Given the description of an element on the screen output the (x, y) to click on. 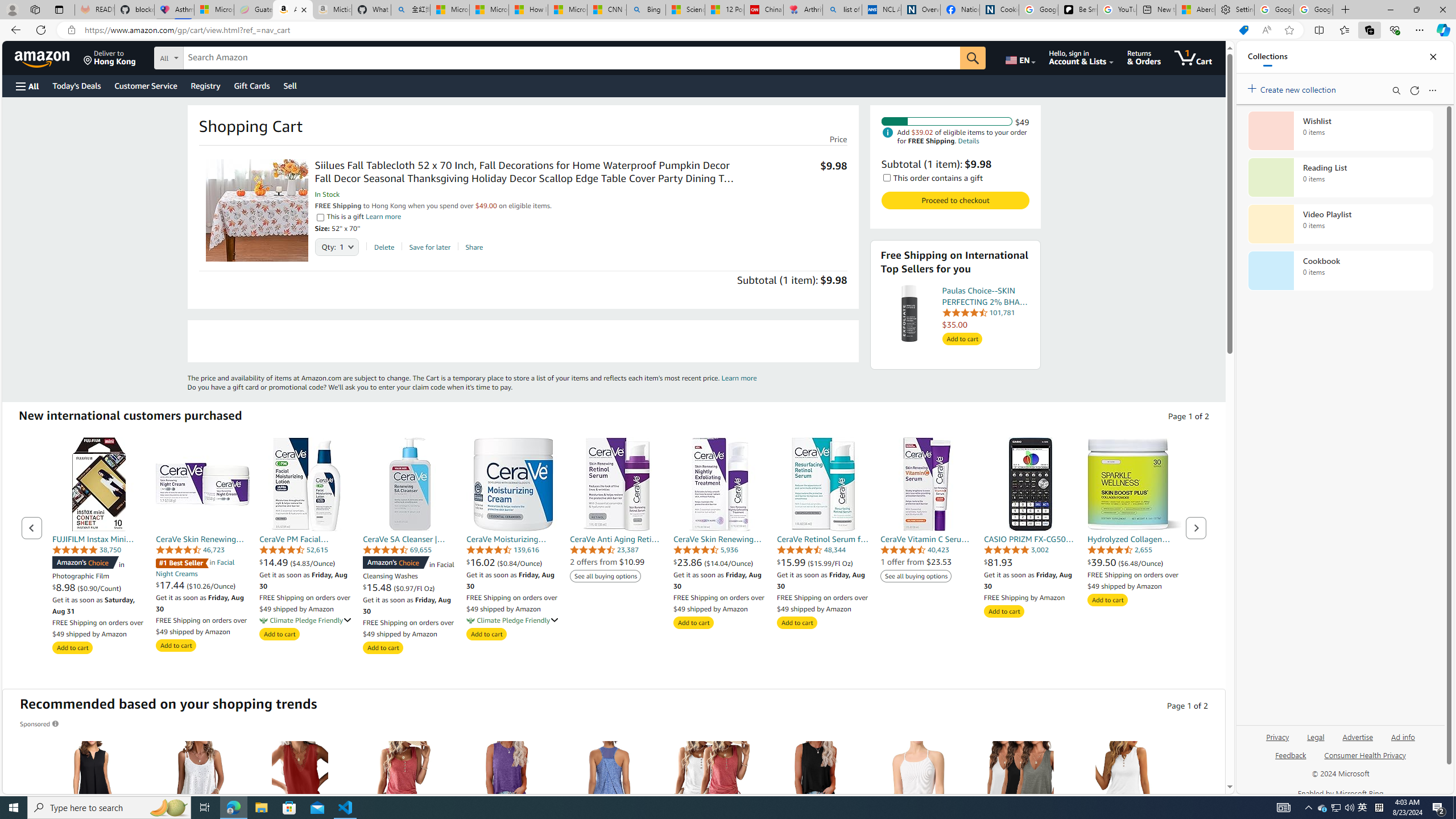
Bing (646, 9)
Search Amazon (571, 57)
Sell (290, 85)
See all buying options (916, 576)
Ad info (1402, 741)
